Given the description of an element on the screen output the (x, y) to click on. 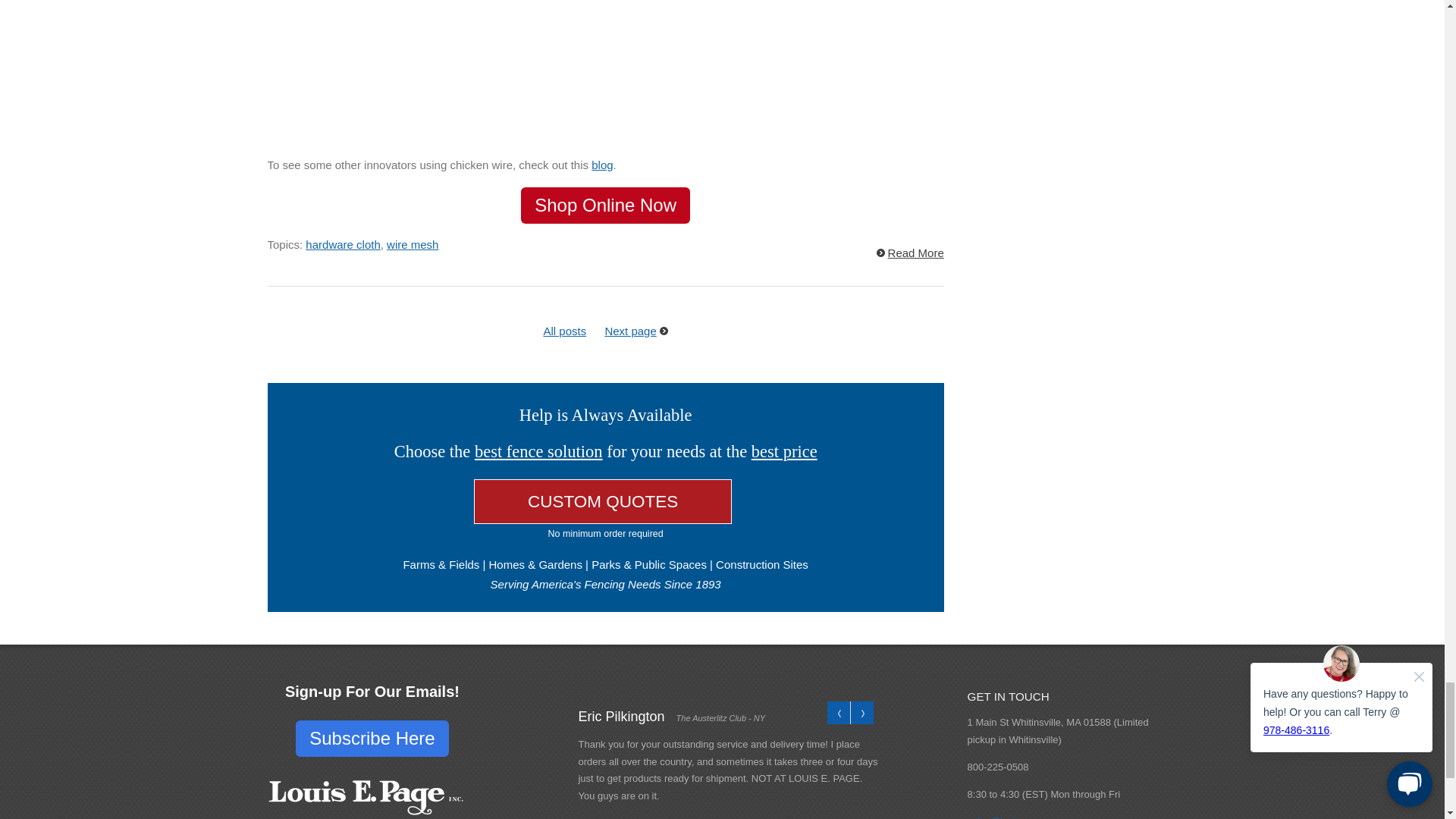
Subscribe Here (371, 738)
Shop Online Now (605, 205)
